Given the description of an element on the screen output the (x, y) to click on. 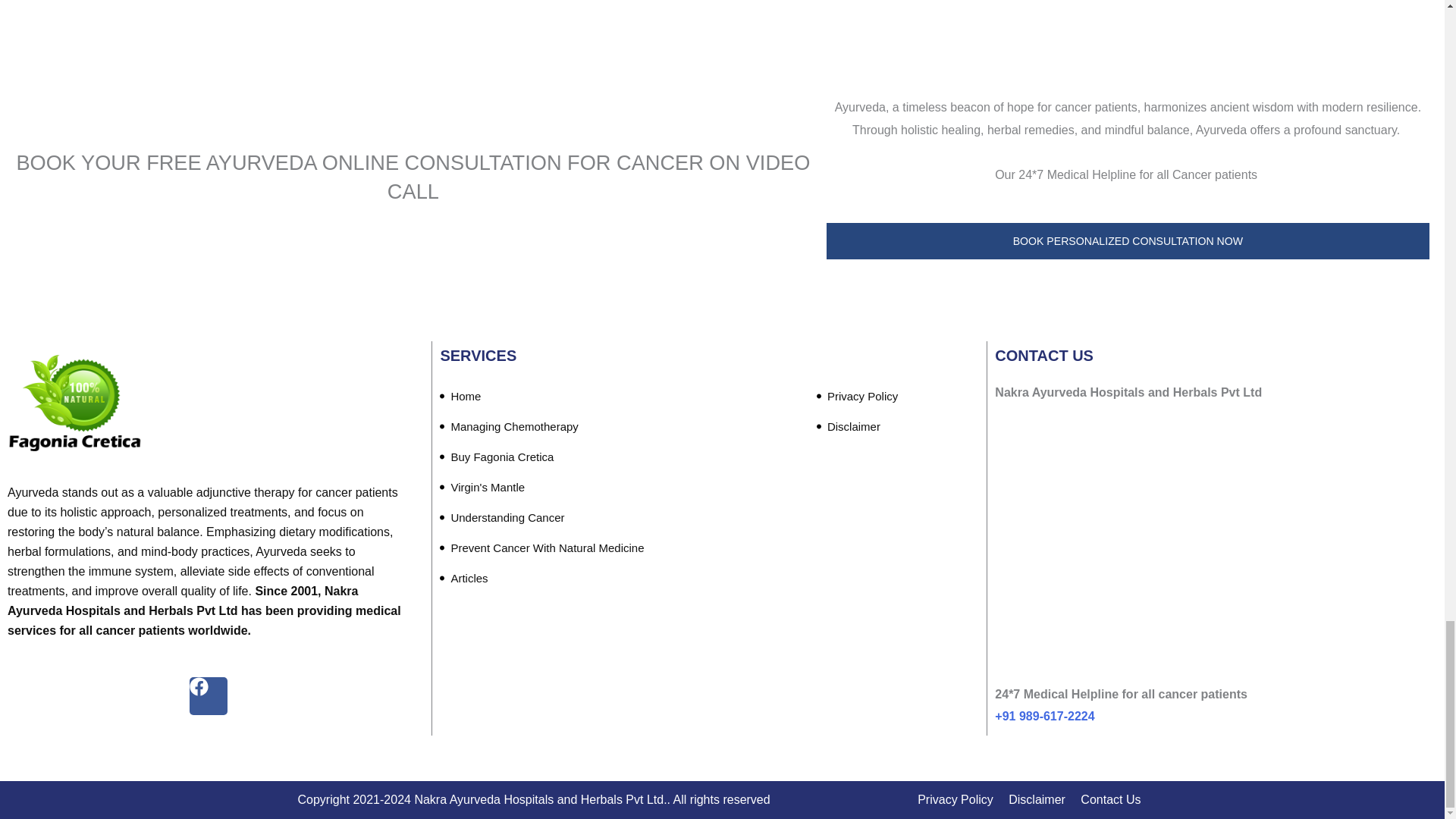
Virgin's Mantle (481, 487)
Facebook (208, 695)
Home (459, 396)
Prevent Cancer With Natural Medicine (541, 548)
Nakra Ayurveda Hospitals and Herbals Pvt Ltd (1212, 554)
Privacy Policy (857, 396)
Articles (463, 578)
BOOK PERSONALIZED CONSULTATION NOW (1128, 240)
Buy Fagonia Cretica (496, 457)
Understanding Cancer (501, 517)
